Given the description of an element on the screen output the (x, y) to click on. 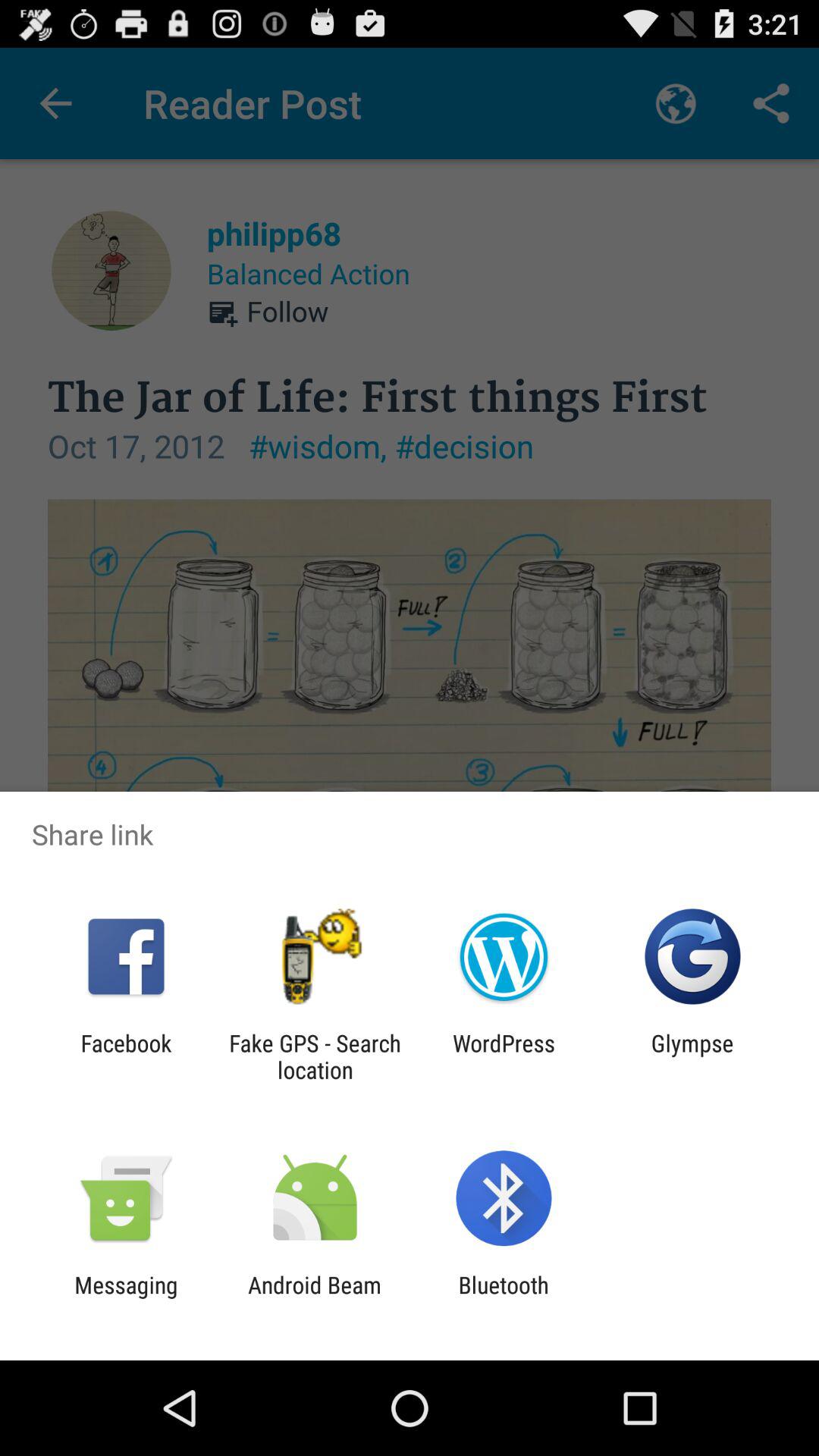
turn on the item next to glympse (503, 1056)
